Given the description of an element on the screen output the (x, y) to click on. 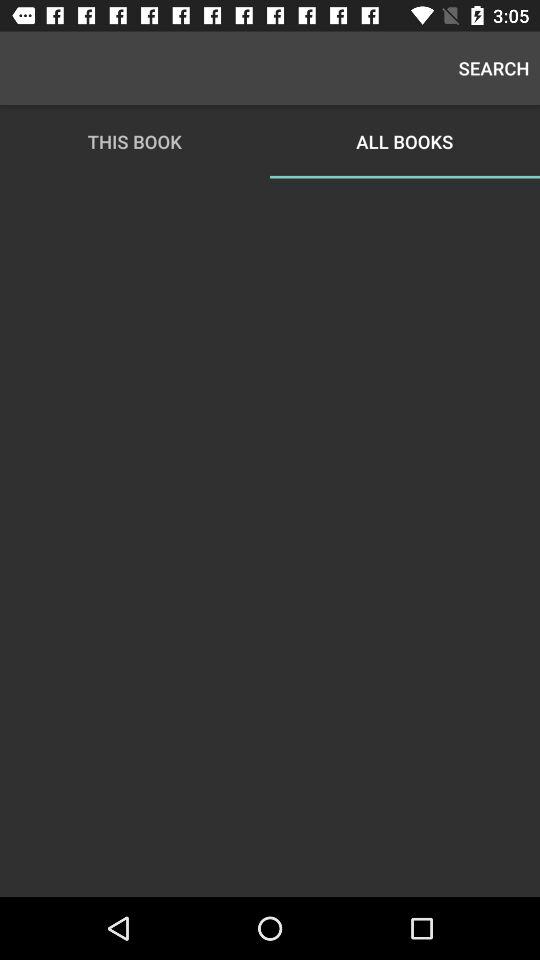
tap icon to the right of this book (494, 67)
